Given the description of an element on the screen output the (x, y) to click on. 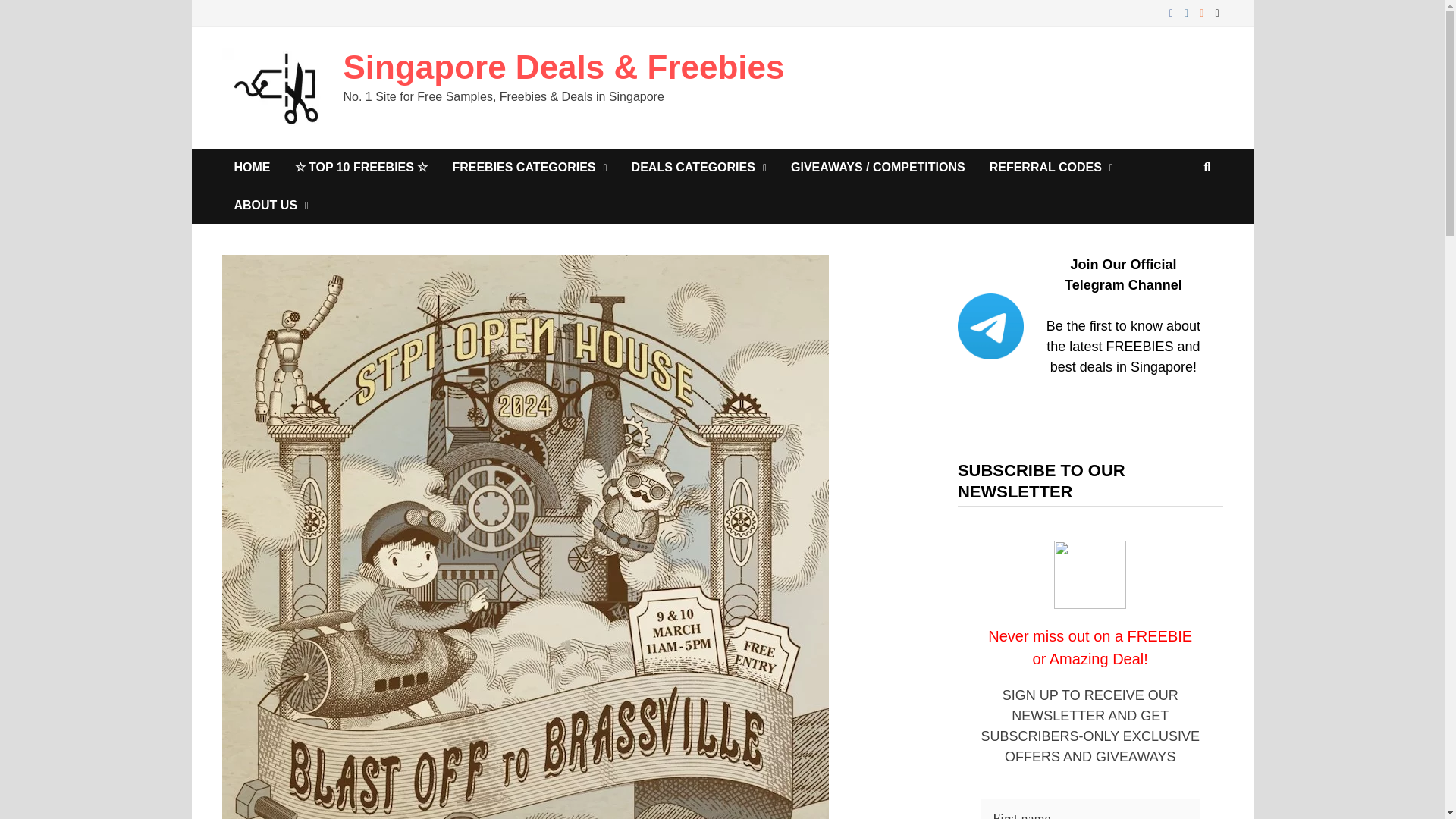
FREEBIES CATEGORIES (528, 167)
Facebook (1173, 11)
ABOUT US (270, 205)
RSS (1203, 11)
HOME (251, 167)
First name (1089, 808)
DEALS CATEGORIES (699, 167)
REFERRAL CODES (1050, 167)
Instagram (1187, 11)
